Given the description of an element on the screen output the (x, y) to click on. 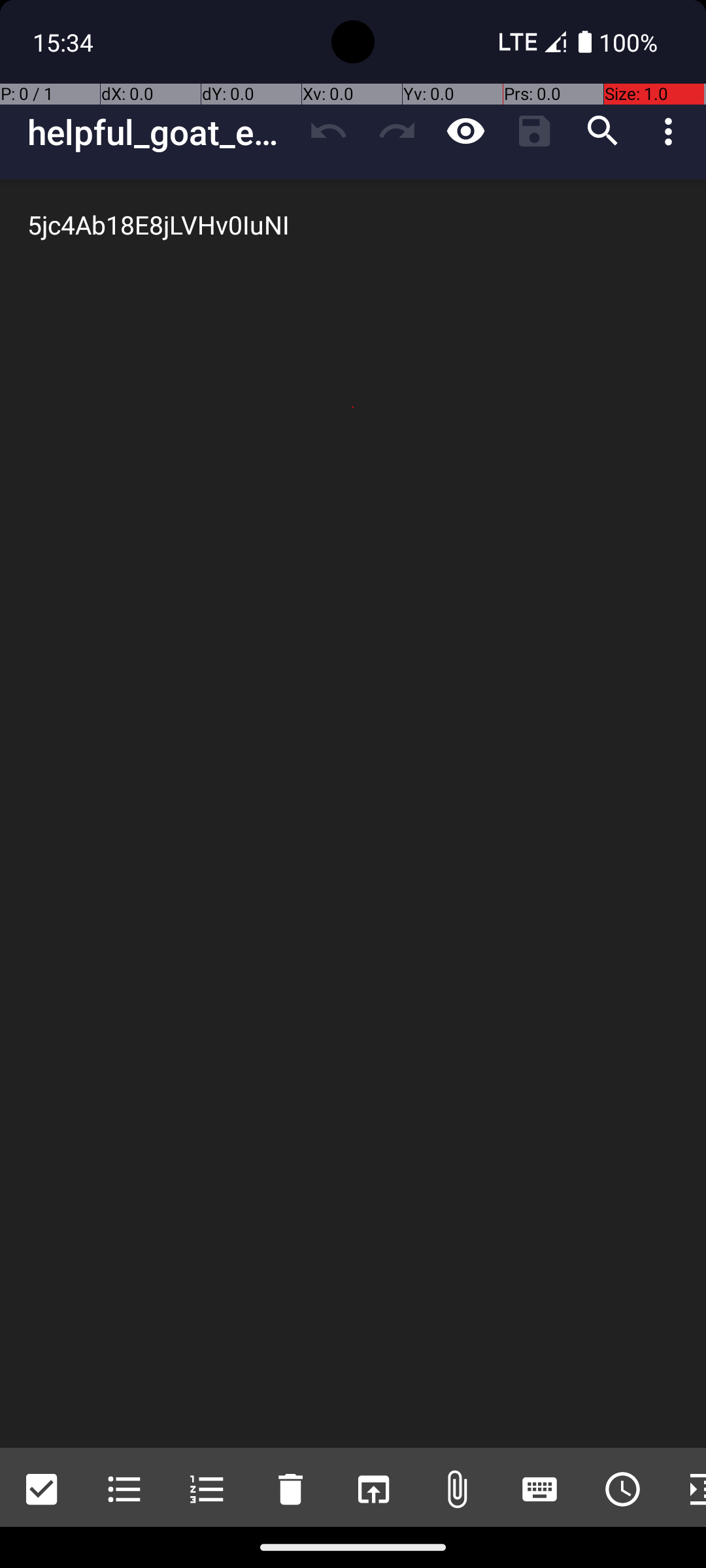
helpful_goat_edited Element type: android.widget.TextView (160, 131)
5jc4Ab18E8jLVHv0IuNI
 Element type: android.widget.EditText (353, 813)
